Given the description of an element on the screen output the (x, y) to click on. 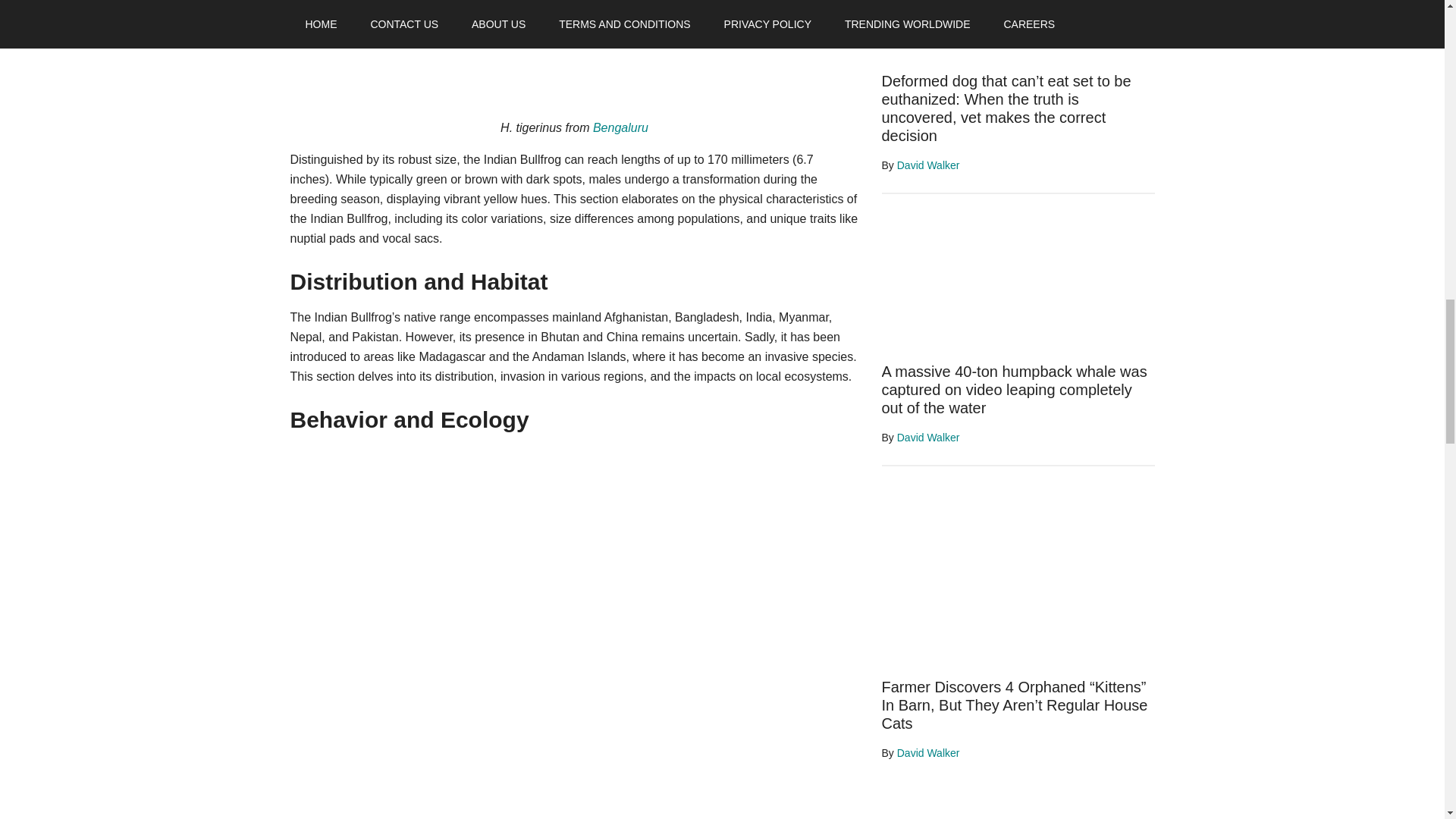
Bengaluru (619, 127)
